Given the description of an element on the screen output the (x, y) to click on. 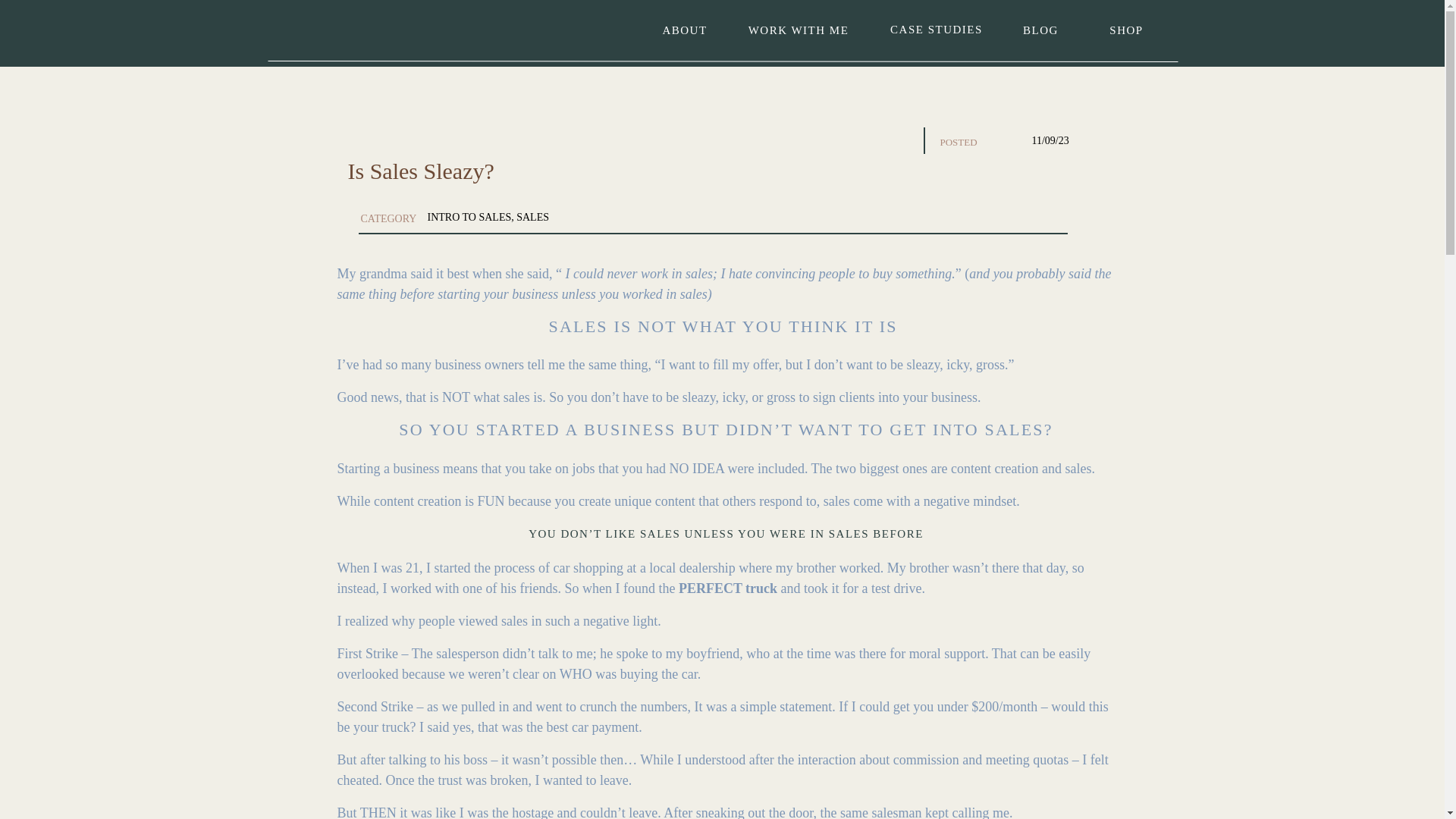
ABOUT (684, 27)
BLOG (1040, 27)
SHOP (1126, 27)
INTRO TO SALES (470, 216)
SALES (532, 216)
WORK WITH ME (798, 28)
CASE STUDIES (936, 26)
